Given the description of an element on the screen output the (x, y) to click on. 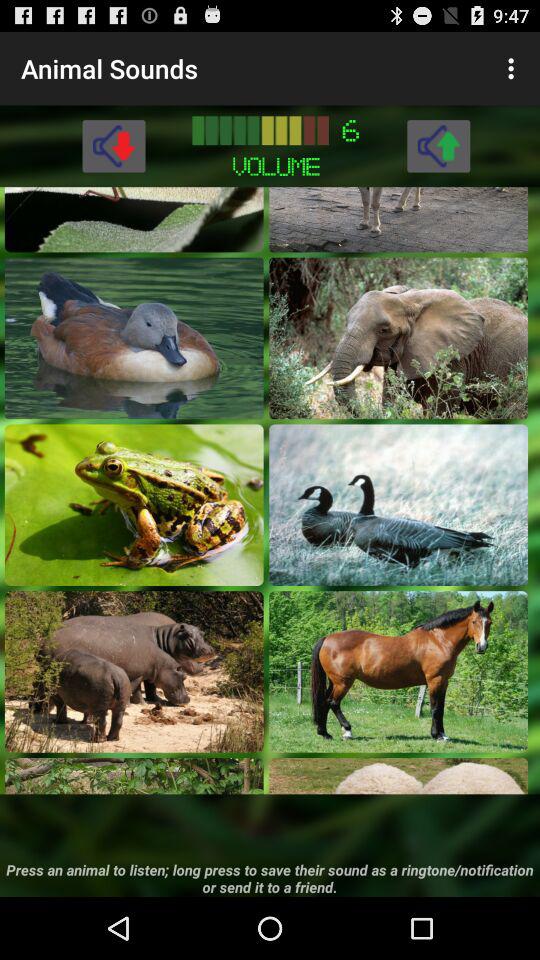
press to listen the elephant long press to save his sound or send it to a friend (398, 337)
